Given the description of an element on the screen output the (x, y) to click on. 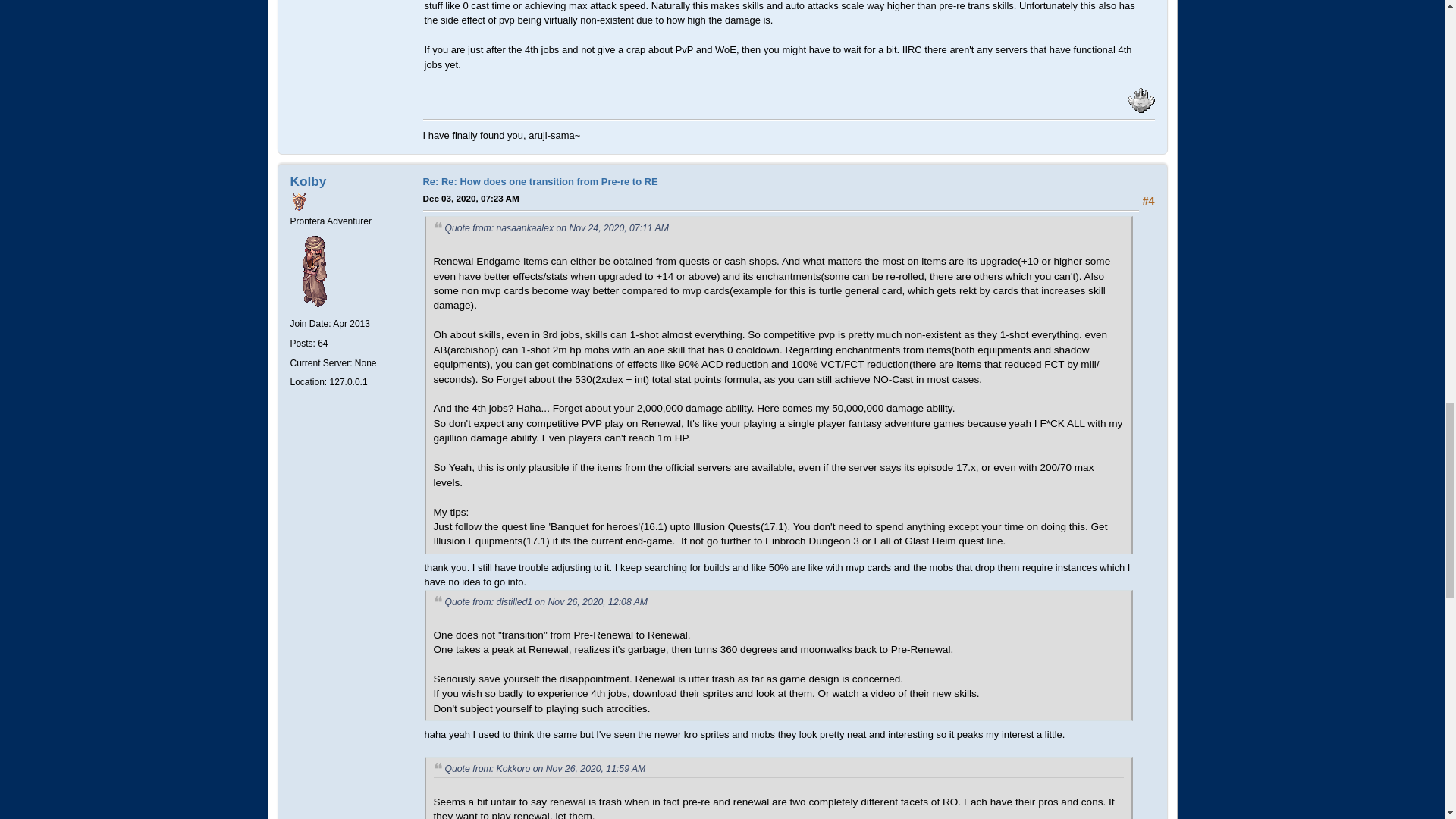
View the profile of Kolby (307, 181)
Kolby (307, 181)
